Given the description of an element on the screen output the (x, y) to click on. 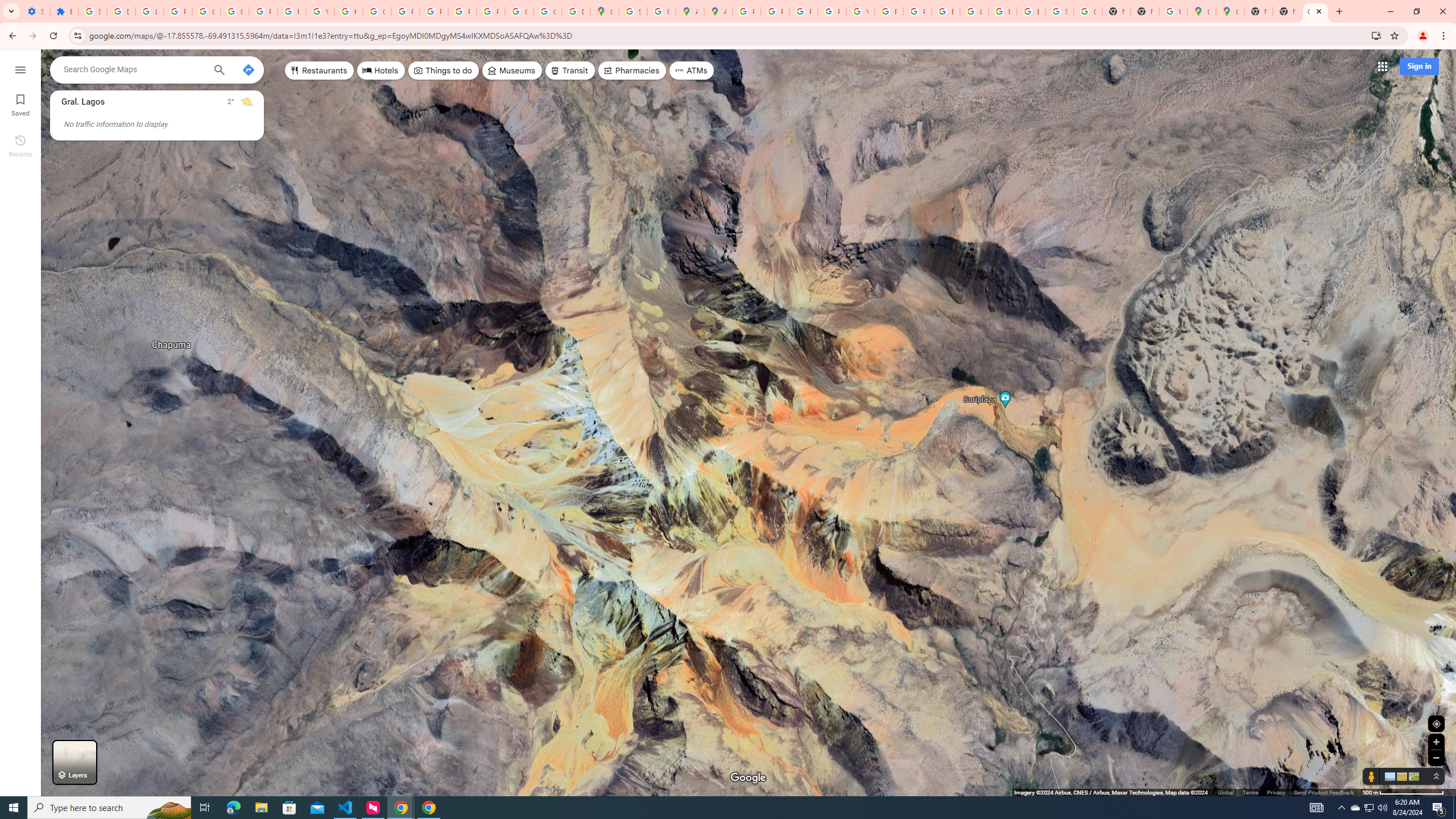
Directions (247, 69)
Pharmacies (632, 70)
Terms (1249, 792)
Create your Google Account (661, 11)
Policy Accountability and Transparency - Transparency Center (746, 11)
Hotels (381, 70)
Restaurants (319, 70)
Google Maps (604, 11)
Global (1225, 792)
Sign in - Google Accounts (1058, 11)
